Given the description of an element on the screen output the (x, y) to click on. 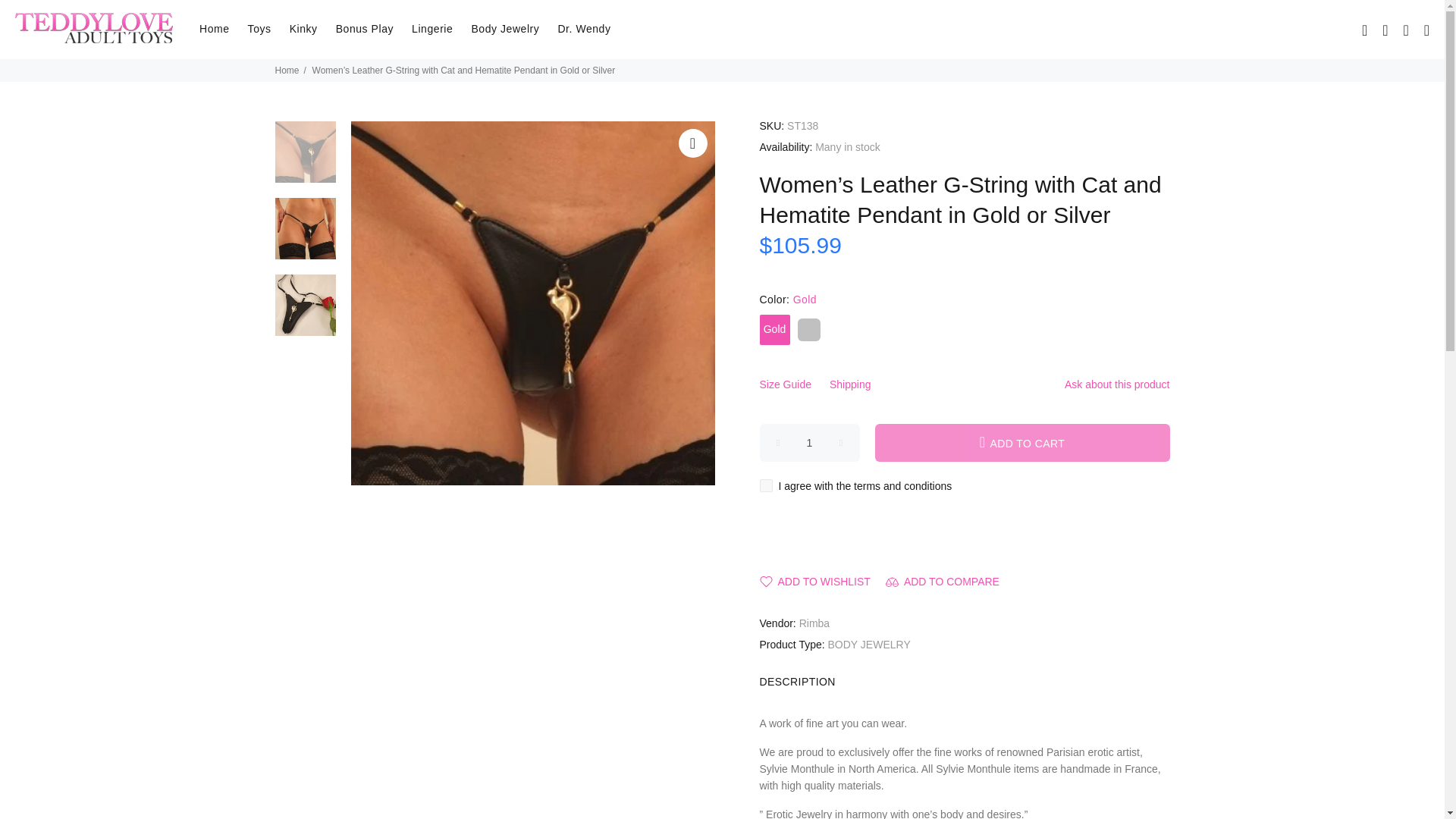
Lingerie (432, 28)
Dr. Wendy (579, 28)
Home (214, 28)
1 (810, 442)
Kinky (303, 28)
Bonus Play (364, 28)
Body Jewelry (504, 28)
Toys (259, 28)
